Given the description of an element on the screen output the (x, y) to click on. 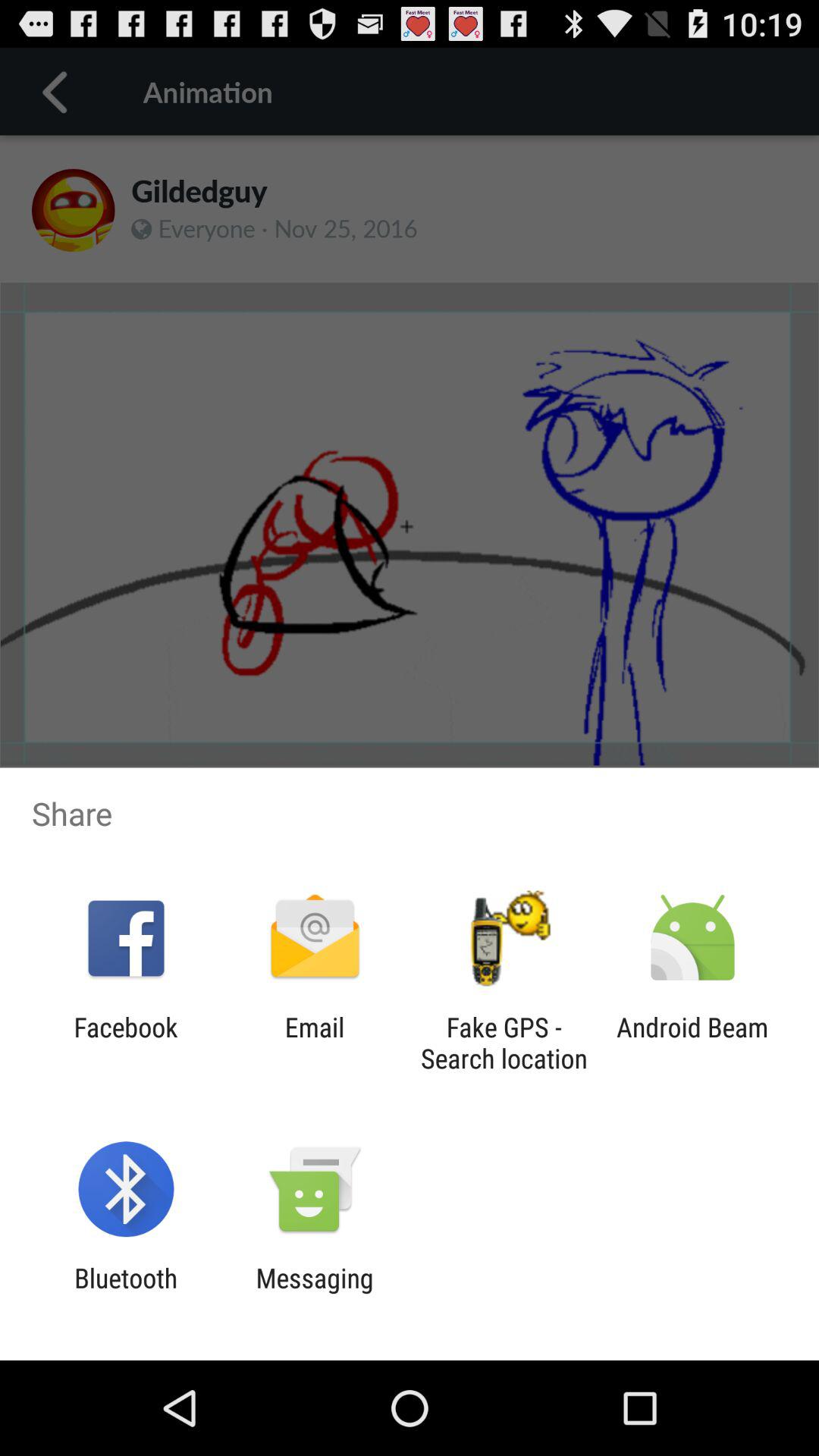
flip to the android beam app (692, 1042)
